Given the description of an element on the screen output the (x, y) to click on. 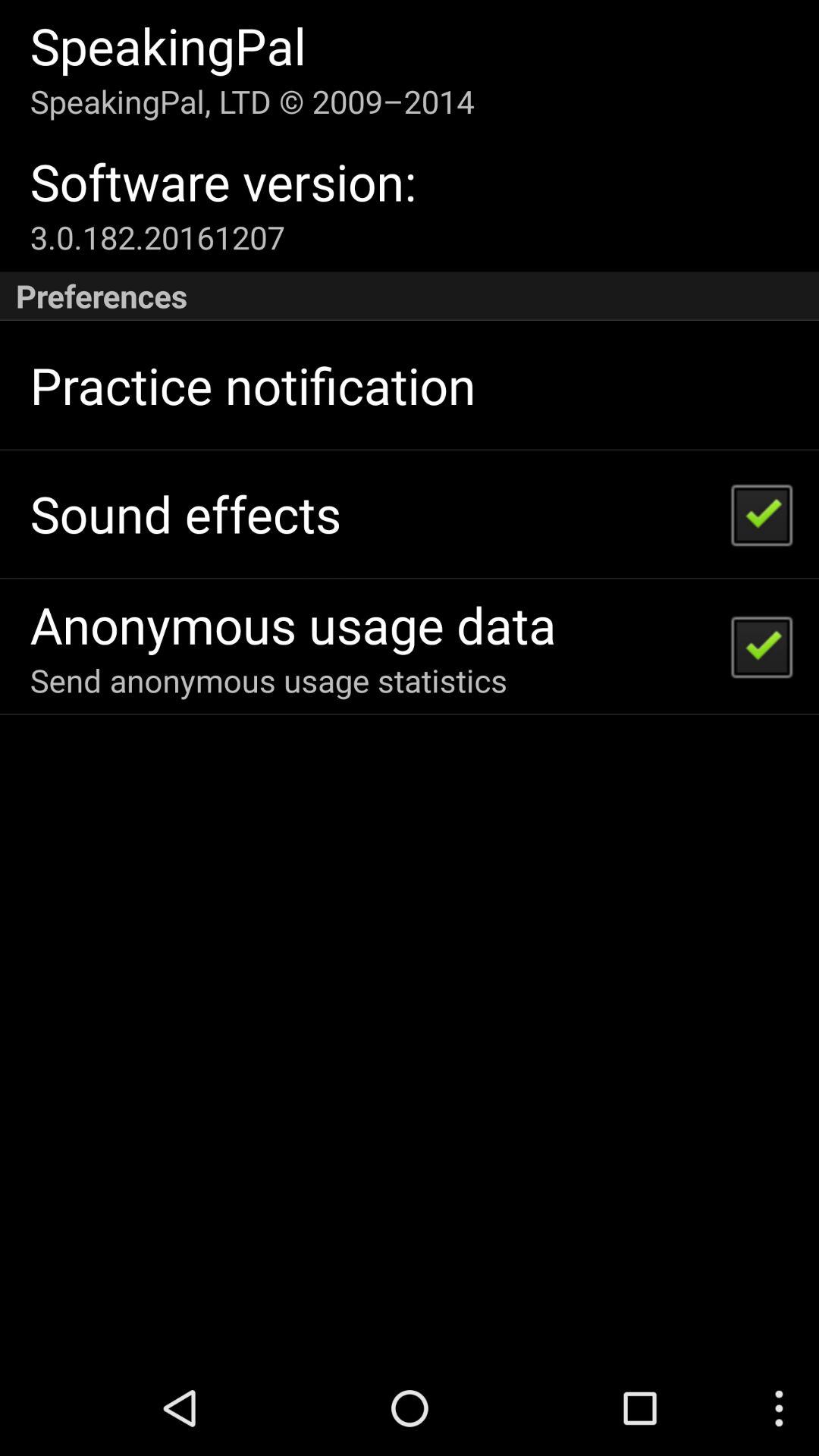
open app below practice notification item (185, 513)
